Given the description of an element on the screen output the (x, y) to click on. 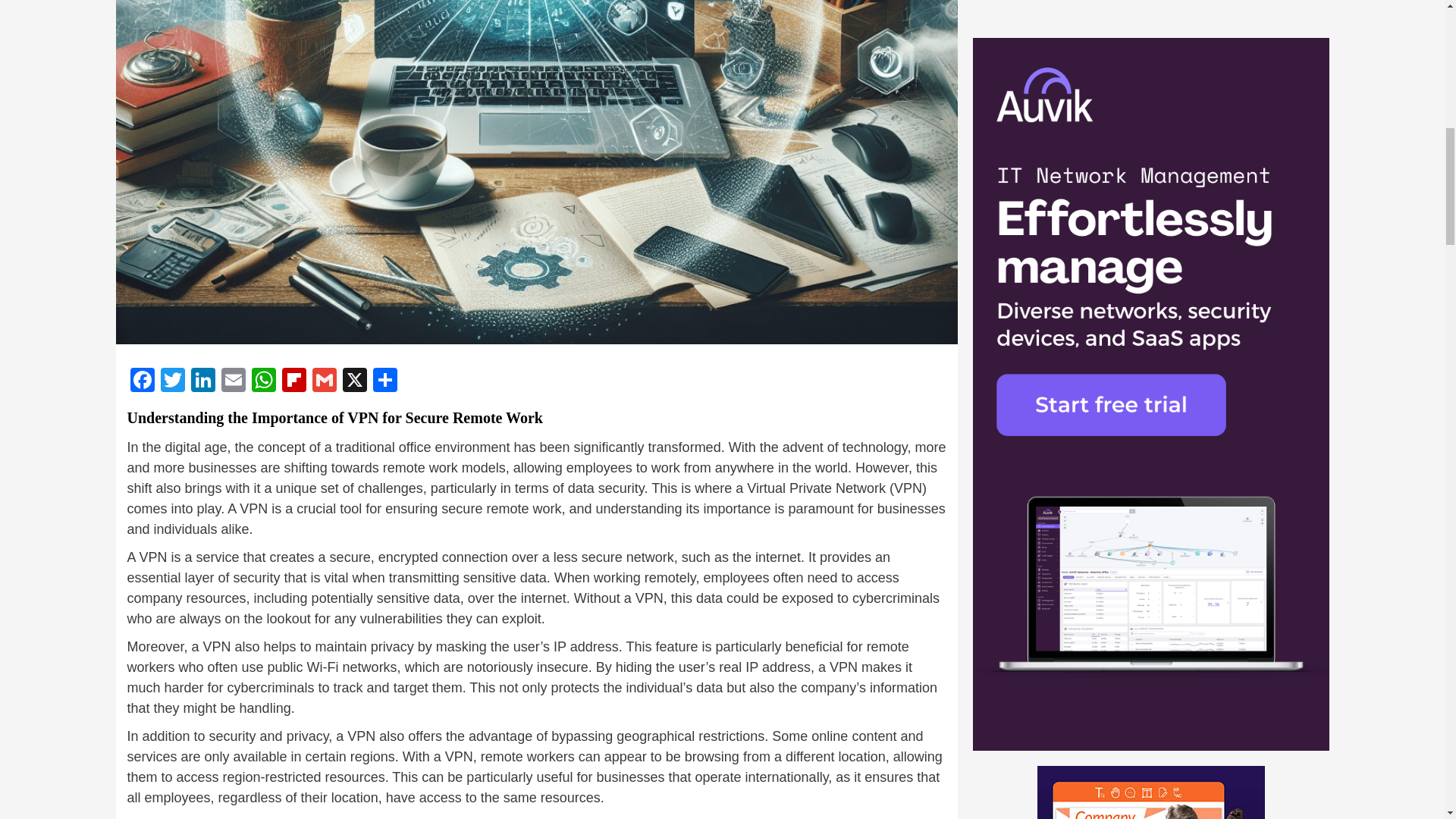
Email (233, 381)
Share (384, 381)
Facebook (142, 381)
Gmail (323, 381)
WhatsApp (263, 381)
Facebook (142, 381)
LinkedIn (202, 381)
Gmail (323, 381)
WhatsApp (263, 381)
X (354, 381)
Flipboard (293, 381)
Flipboard (293, 381)
Email (233, 381)
X (354, 381)
Twitter (172, 381)
